Given the description of an element on the screen output the (x, y) to click on. 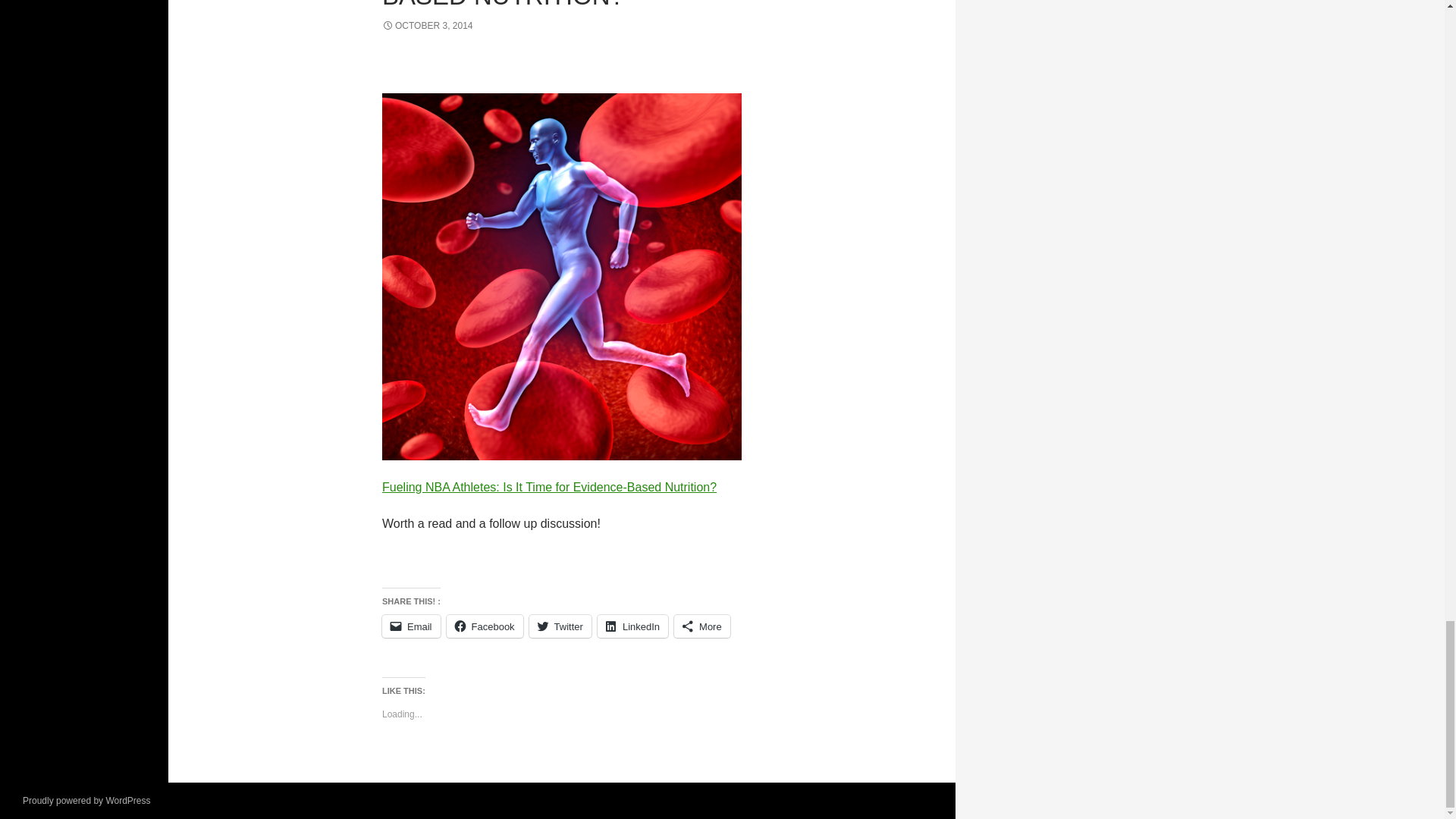
Click to share on Facebook (484, 626)
Email (411, 626)
More (702, 626)
Facebook (484, 626)
Click to email a link to a friend (411, 626)
LinkedIn (632, 626)
Click to share on Twitter (560, 626)
Twitter (560, 626)
OCTOBER 3, 2014 (427, 25)
Click to share on LinkedIn (632, 626)
